Given the description of an element on the screen output the (x, y) to click on. 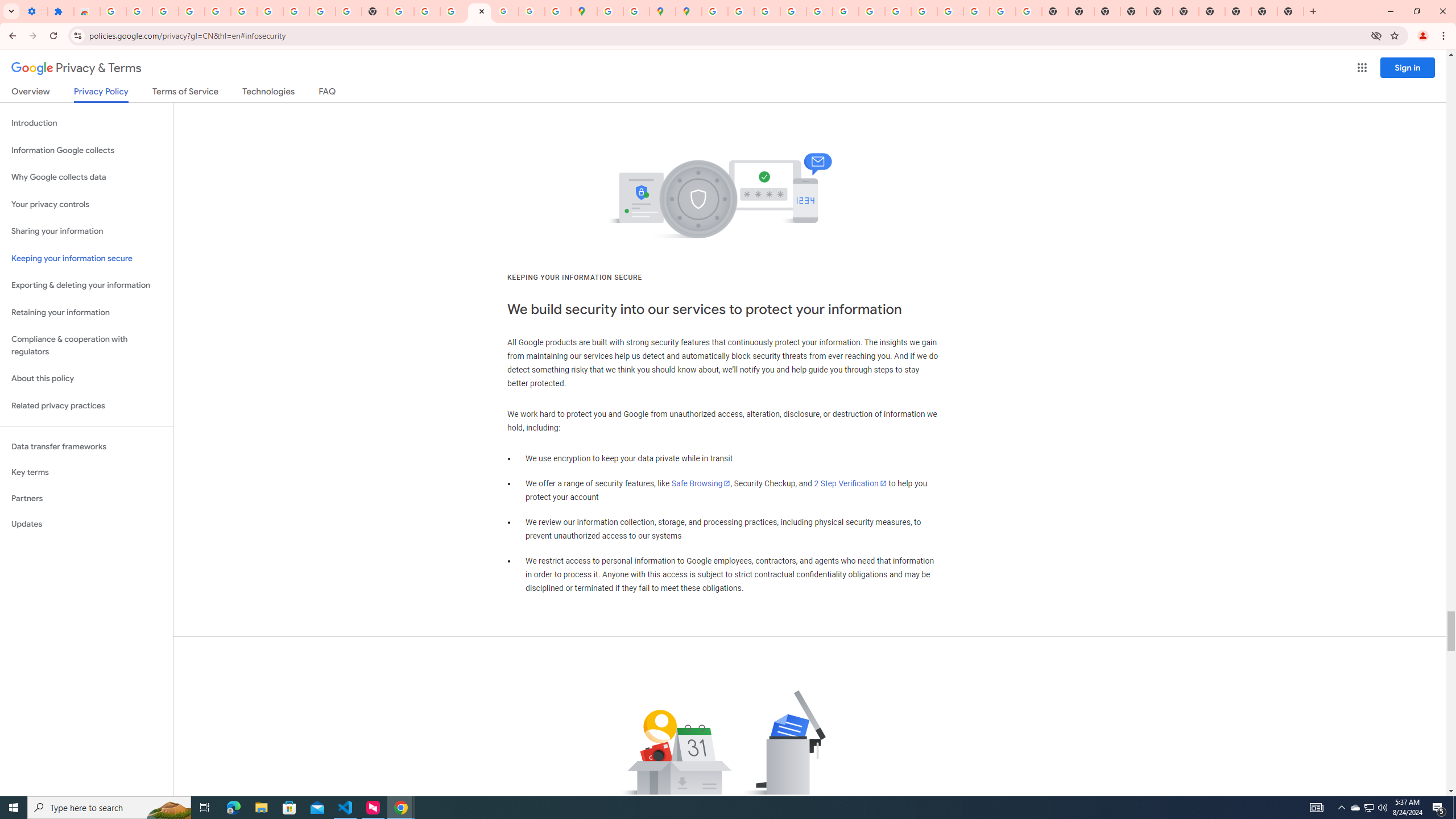
Reviews: Helix Fruit Jump Arcade Game (86, 11)
Google Images (1028, 11)
2 Step Verification (849, 483)
